Given the description of an element on the screen output the (x, y) to click on. 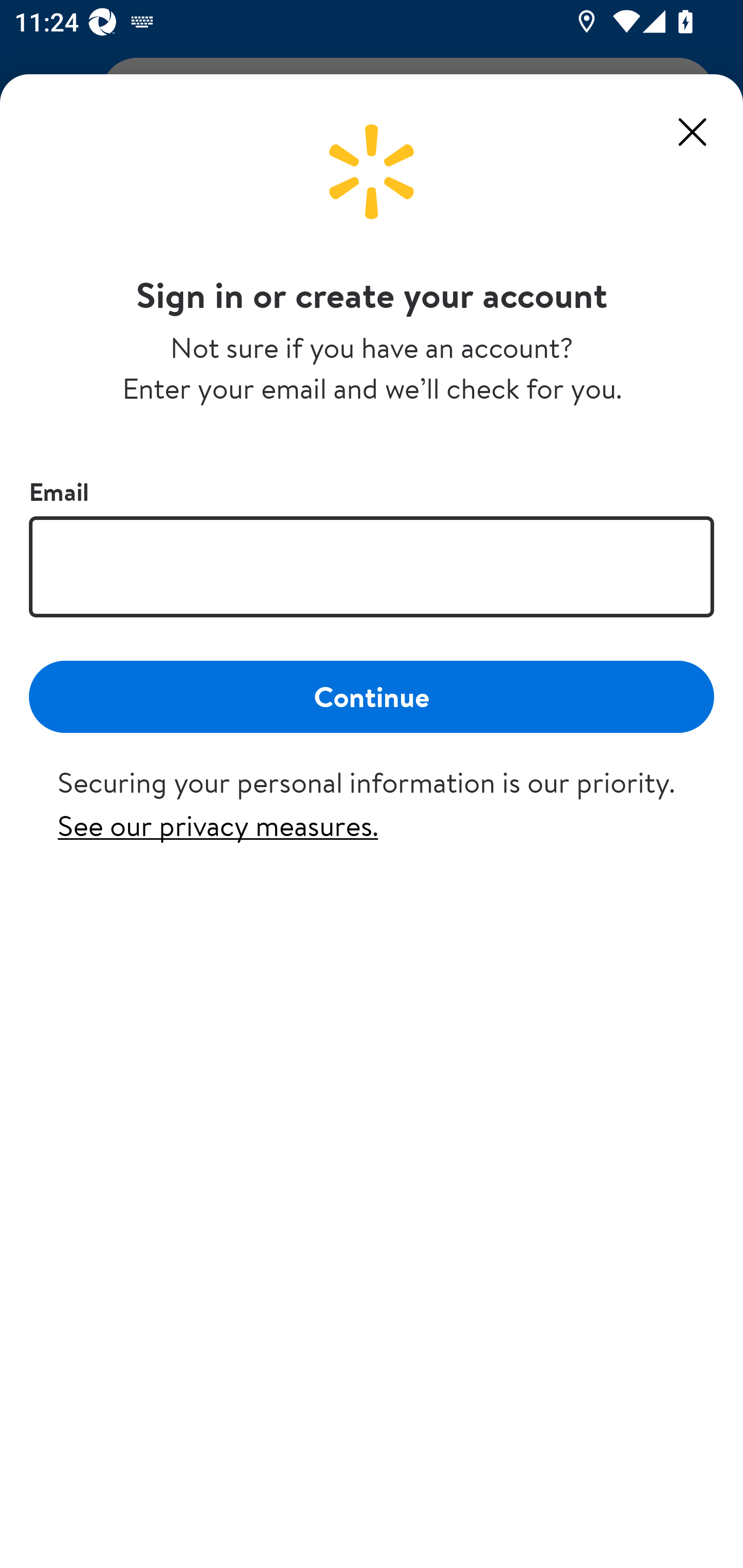
Close (692, 131)
Email (371, 566)
Continue (371, 696)
